Given the description of an element on the screen output the (x, y) to click on. 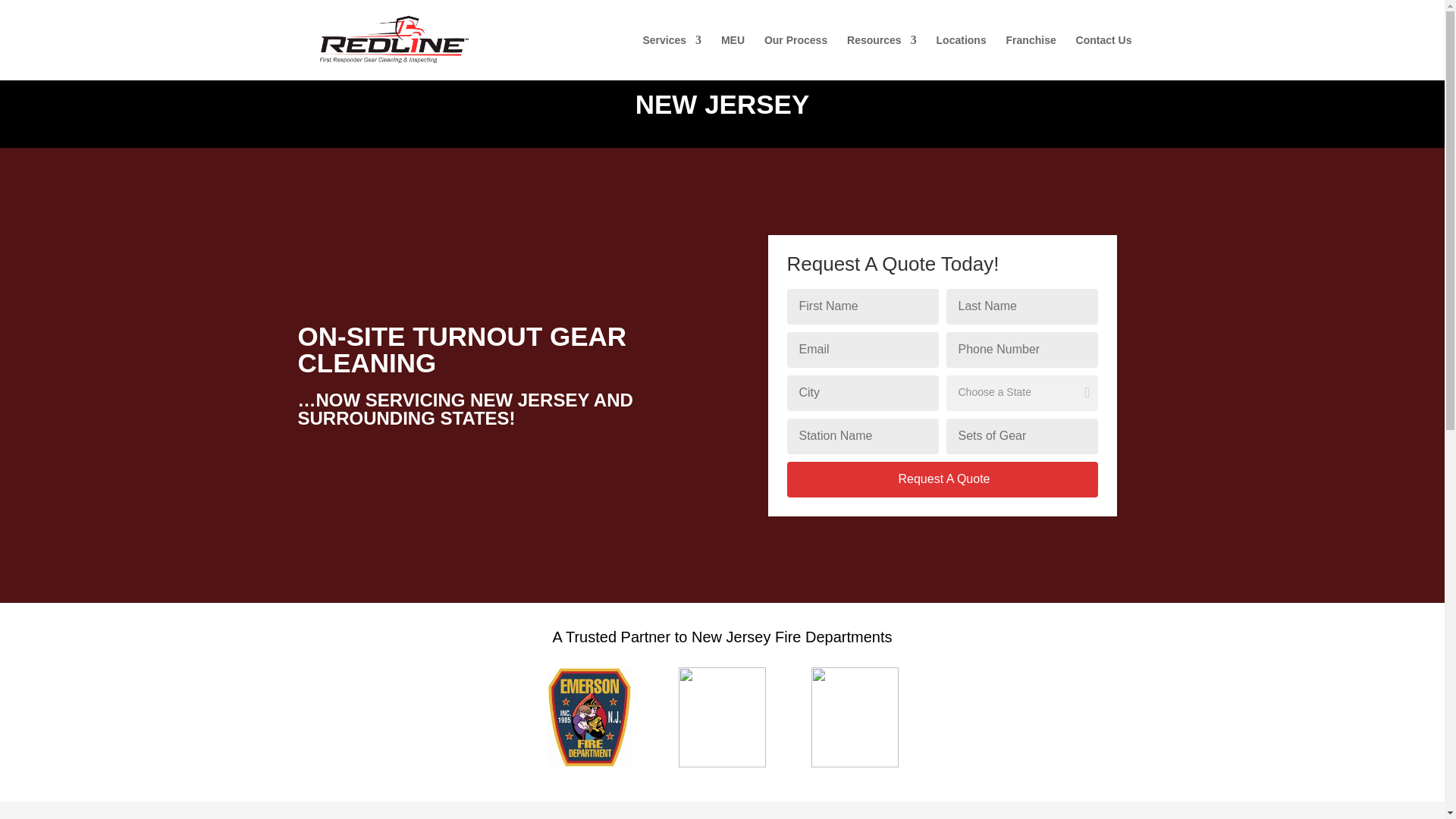
Services (671, 57)
Contact Us (1103, 57)
Locations (961, 57)
Our Process (795, 57)
Franchise (1031, 57)
Resources (882, 57)
Request A Quote (942, 478)
